Given the description of an element on the screen output the (x, y) to click on. 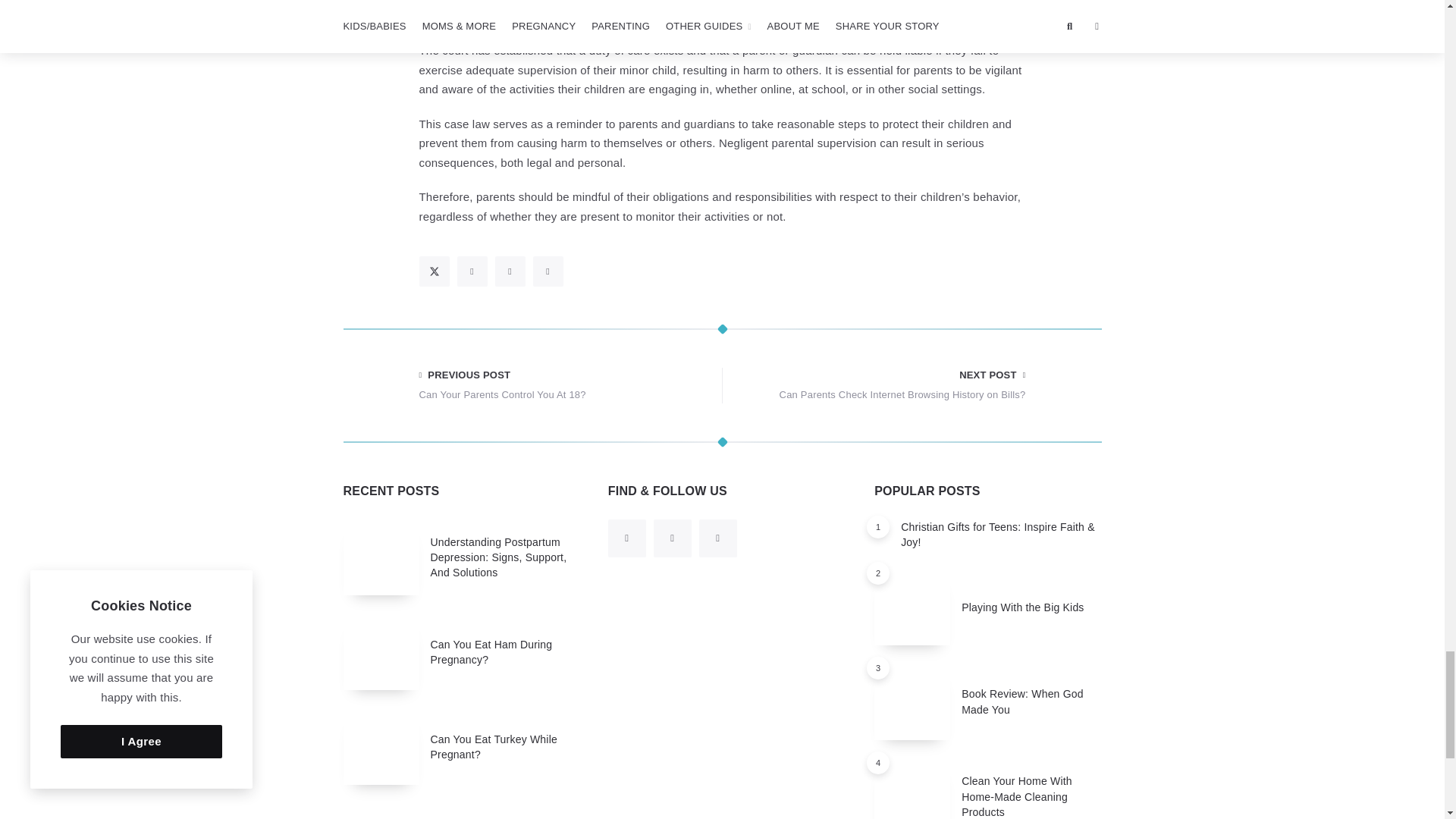
Can You Eat Ham During Pregnancy? (491, 651)
Can You Eat Turkey While Pregnant? (493, 746)
